Given the description of an element on the screen output the (x, y) to click on. 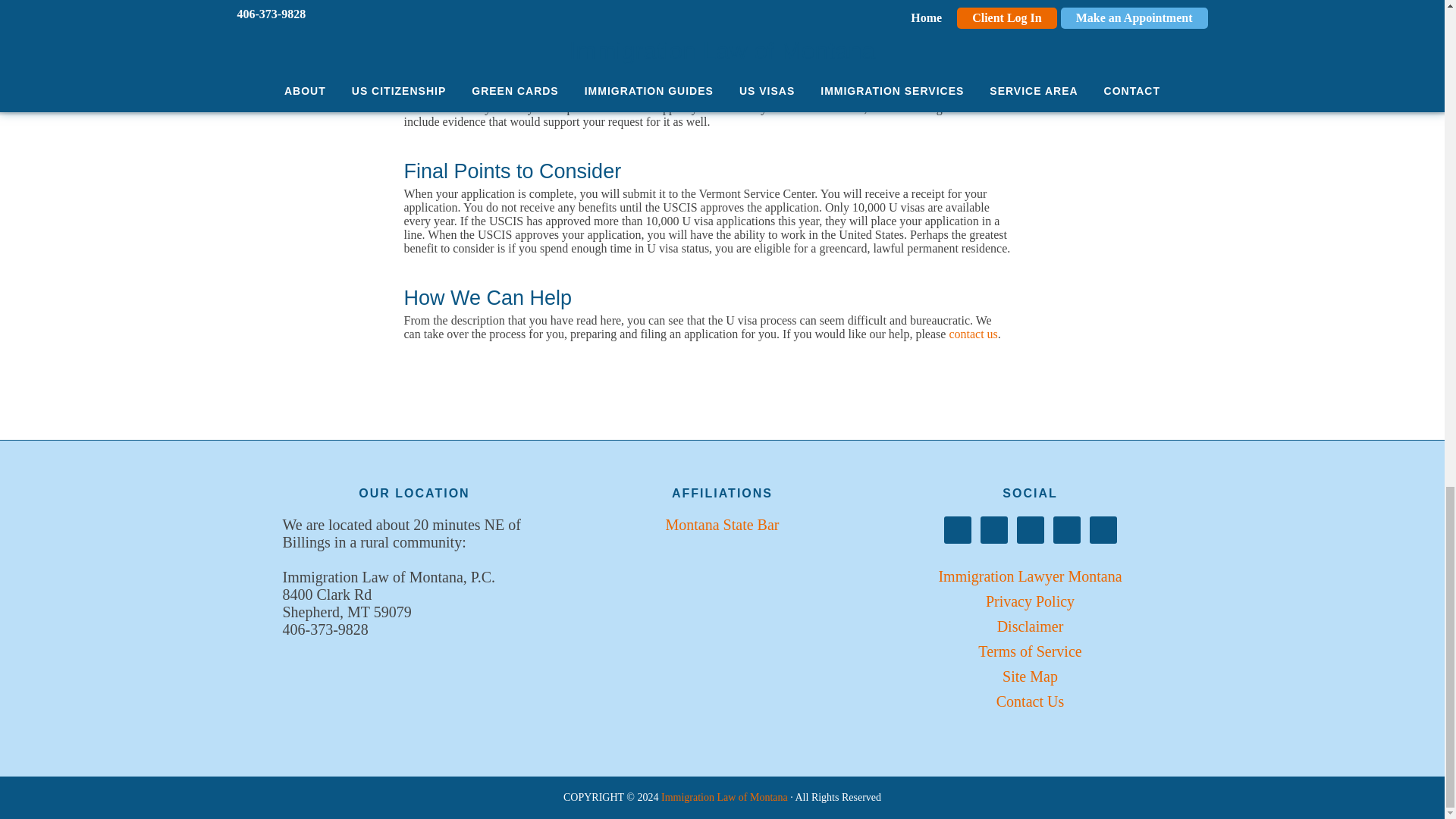
Tumblr (1029, 529)
Twitter (1066, 529)
Facebook (956, 529)
YouTube (1102, 529)
LinkedIn (994, 529)
